Given the description of an element on the screen output the (x, y) to click on. 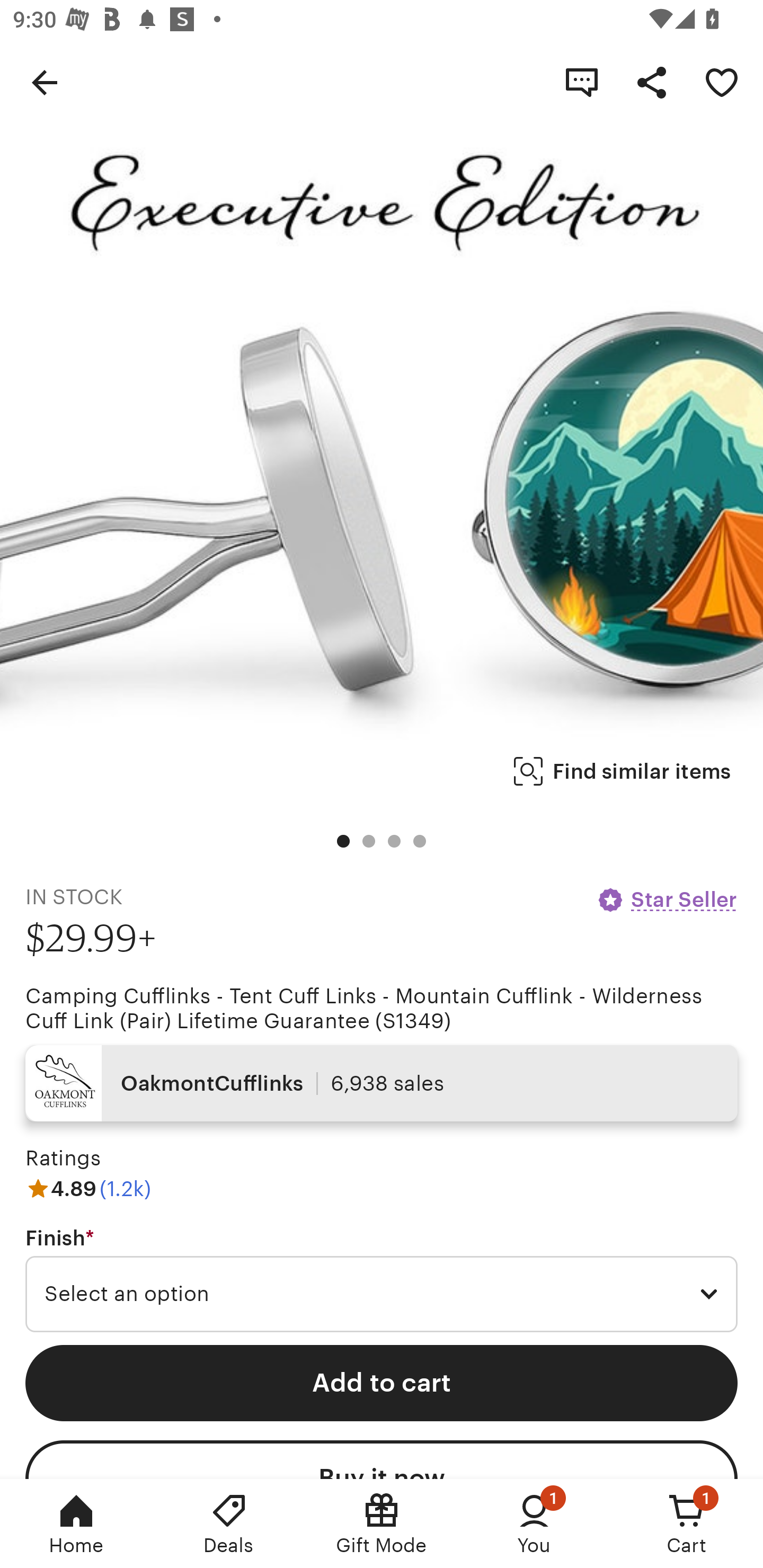
Navigate up (44, 81)
Contact shop (581, 81)
Share (651, 81)
Find similar items (622, 771)
Star Seller (666, 899)
OakmontCufflinks 6,938 sales (381, 1083)
Ratings (62, 1157)
4.89 (1.2k) (88, 1188)
Finish * Required Select an option (381, 1279)
Select an option (381, 1293)
Add to cart (381, 1382)
Deals (228, 1523)
Gift Mode (381, 1523)
You, 1 new notification You (533, 1523)
Cart, 1 new notification Cart (686, 1523)
